Given the description of an element on the screen output the (x, y) to click on. 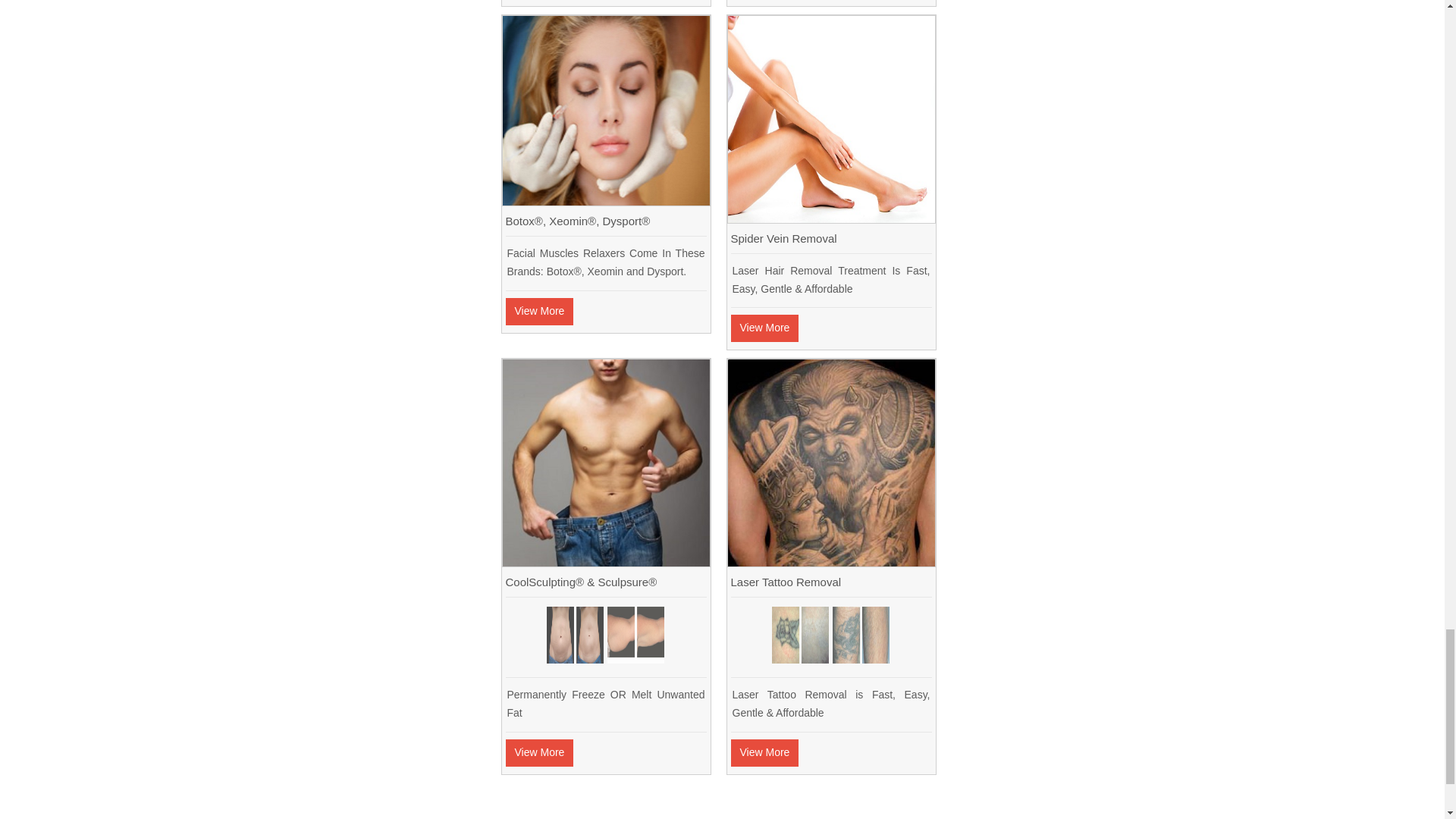
Tattoo Leg Copy 1 (860, 634)
Laser Tattoo Removal (831, 562)
tattoo-rose-copy2 (799, 634)
Spider Vein Removal (831, 218)
CoolSculpting Arms 800X300 (635, 634)
